Given the description of an element on the screen output the (x, y) to click on. 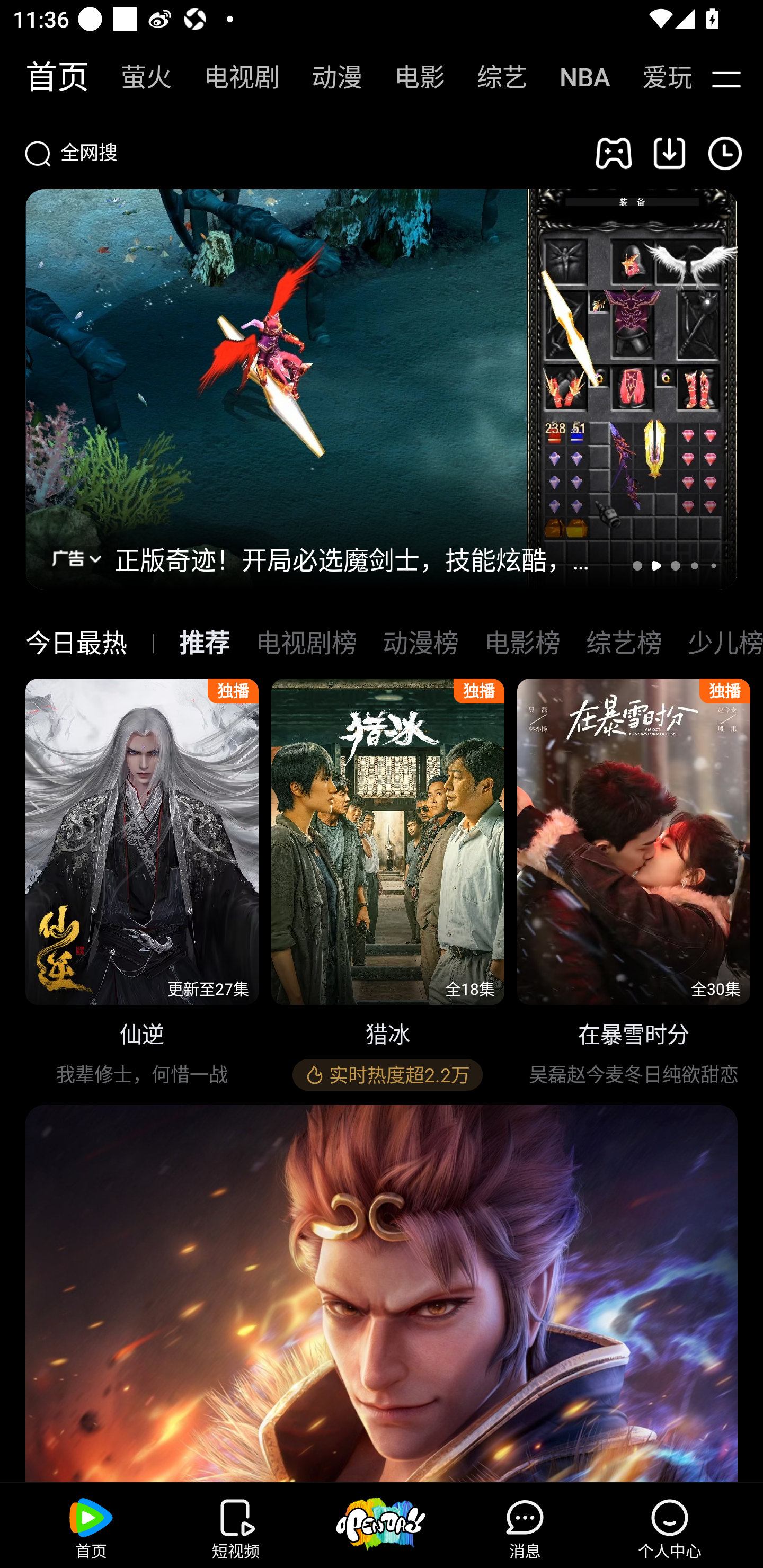
首页 (47, 77)
萤火 (136, 77)
电视剧 (231, 77)
动漫 (327, 77)
电影 (409, 77)
综艺 (492, 77)
NBA (575, 77)
爱玩 (653, 77)
全网搜 (297, 152)
正版奇迹！开局必选魔剑士，技能炫酷，伤害爆炸，史诗10倍爆率 (362, 558)
推荐 (204, 643)
电视剧榜 (306, 643)
动漫榜 (420, 643)
电影榜 (522, 643)
综艺榜 (623, 643)
少儿榜 (725, 643)
仙逆 我辈修士，何惜一战 (141, 887)
猎冰 实时热度超2.2万 (387, 887)
在暴雪时分 吴磊赵今麦冬日纯欲甜恋 (633, 887)
实时热度超2.2万 (387, 1074)
